Given the description of an element on the screen output the (x, y) to click on. 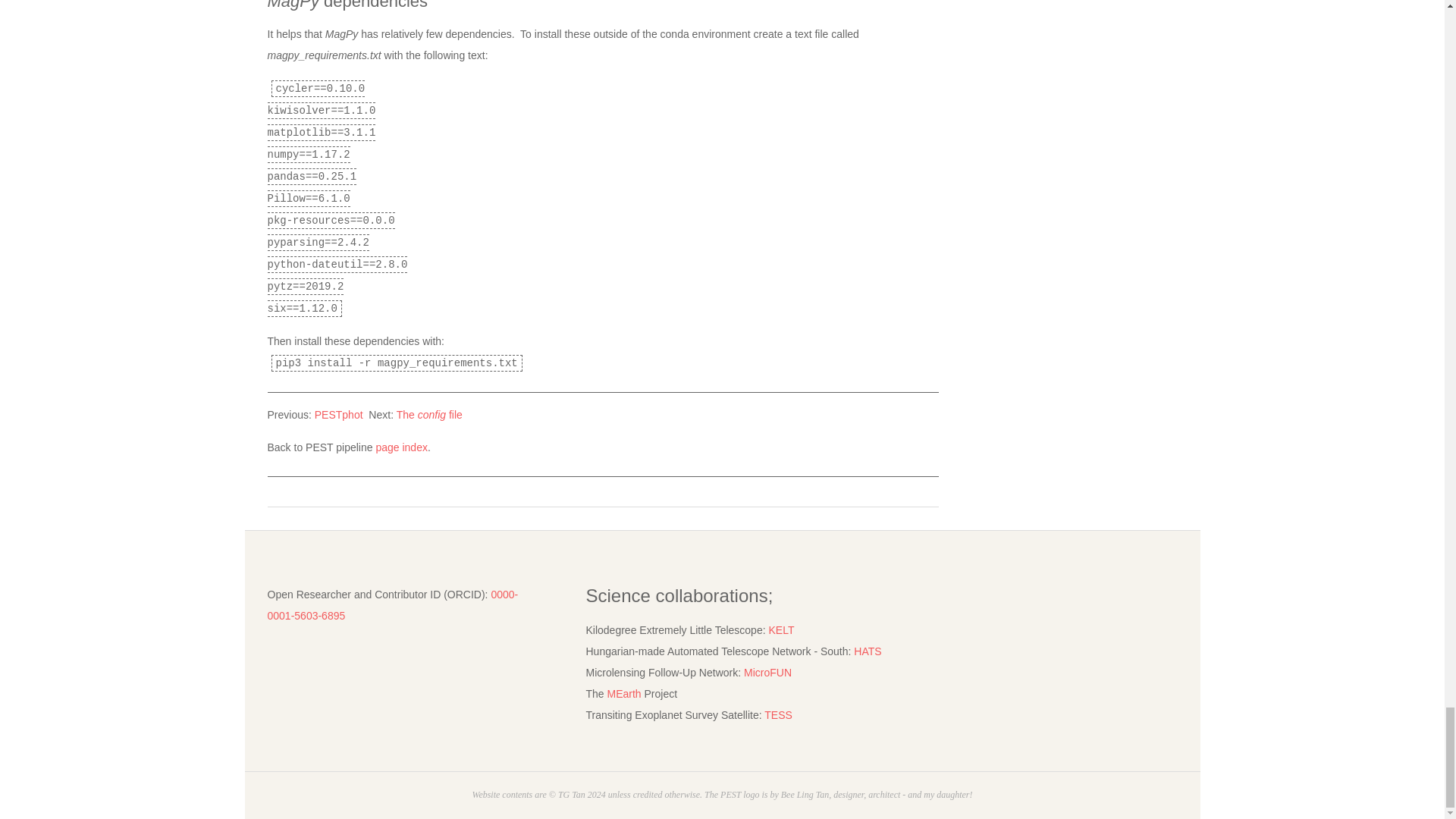
MicroFUN (768, 672)
MEarth (623, 693)
page index (401, 447)
TESS (778, 715)
PESTphot (338, 414)
KELT (780, 630)
0000-0001-5603-6895 (392, 604)
The config file (429, 414)
HATS (866, 651)
